Given the description of an element on the screen output the (x, y) to click on. 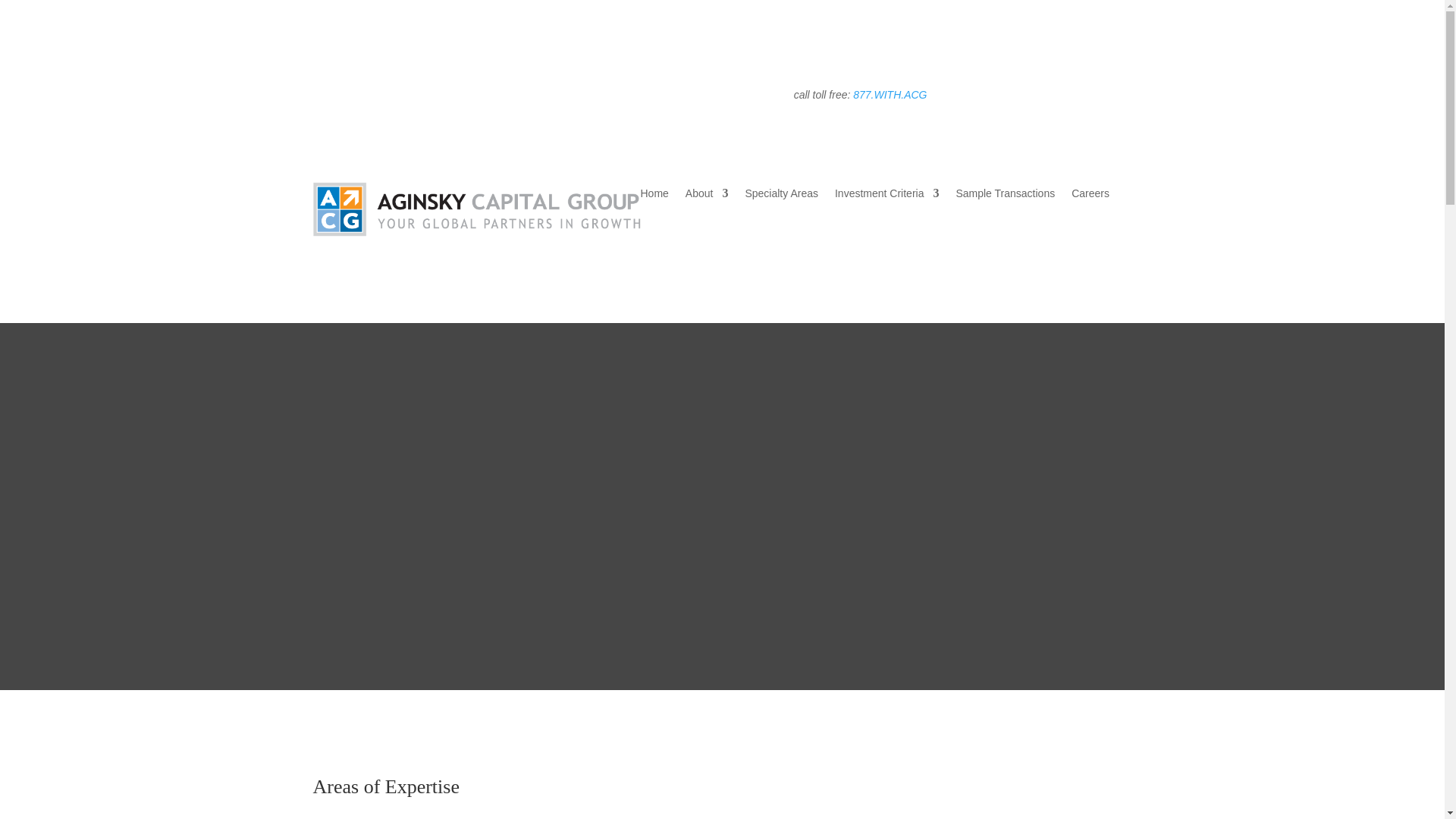
Careers (1090, 196)
Investment Criteria (886, 196)
877.WITH.ACG (889, 94)
Sample Transactions (1004, 196)
ACG logo (476, 208)
Specialty Areas (781, 196)
About (707, 196)
Home (654, 196)
